Given the description of an element on the screen output the (x, y) to click on. 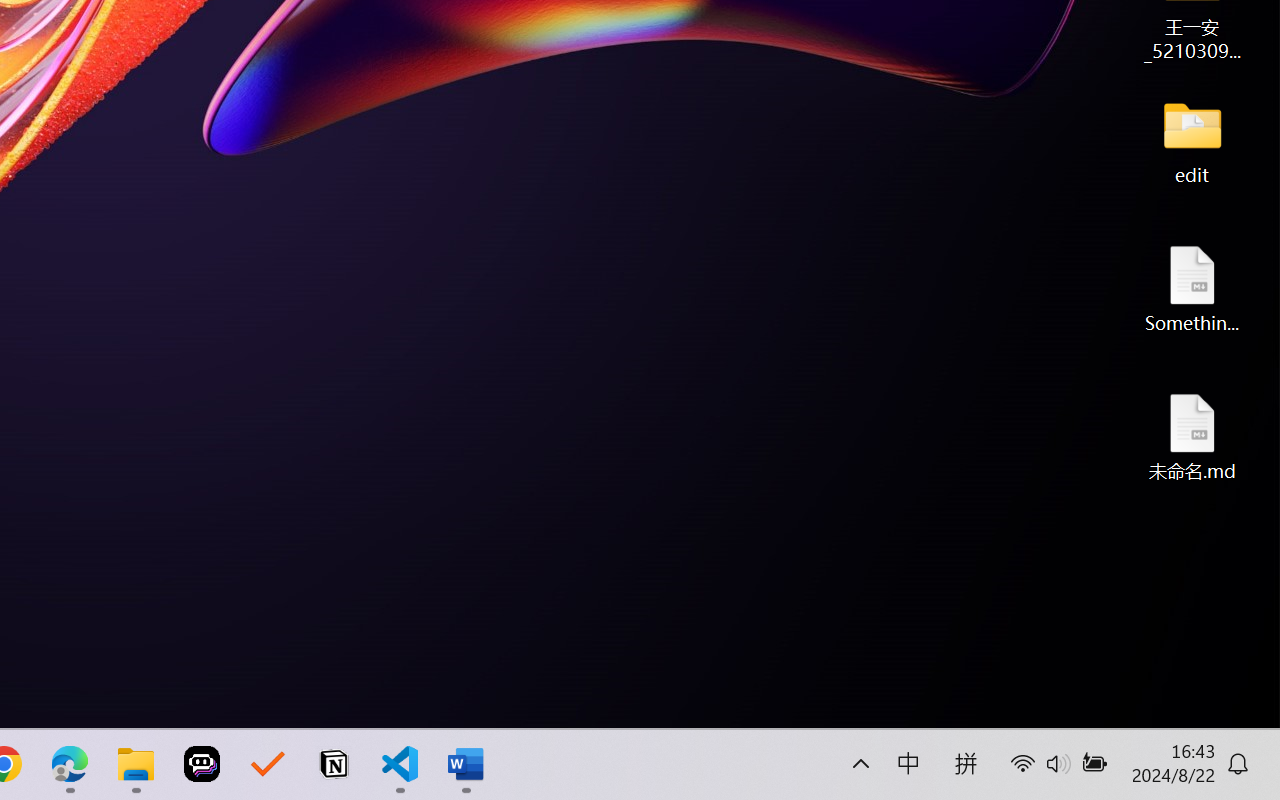
edit (1192, 140)
